Given the description of an element on the screen output the (x, y) to click on. 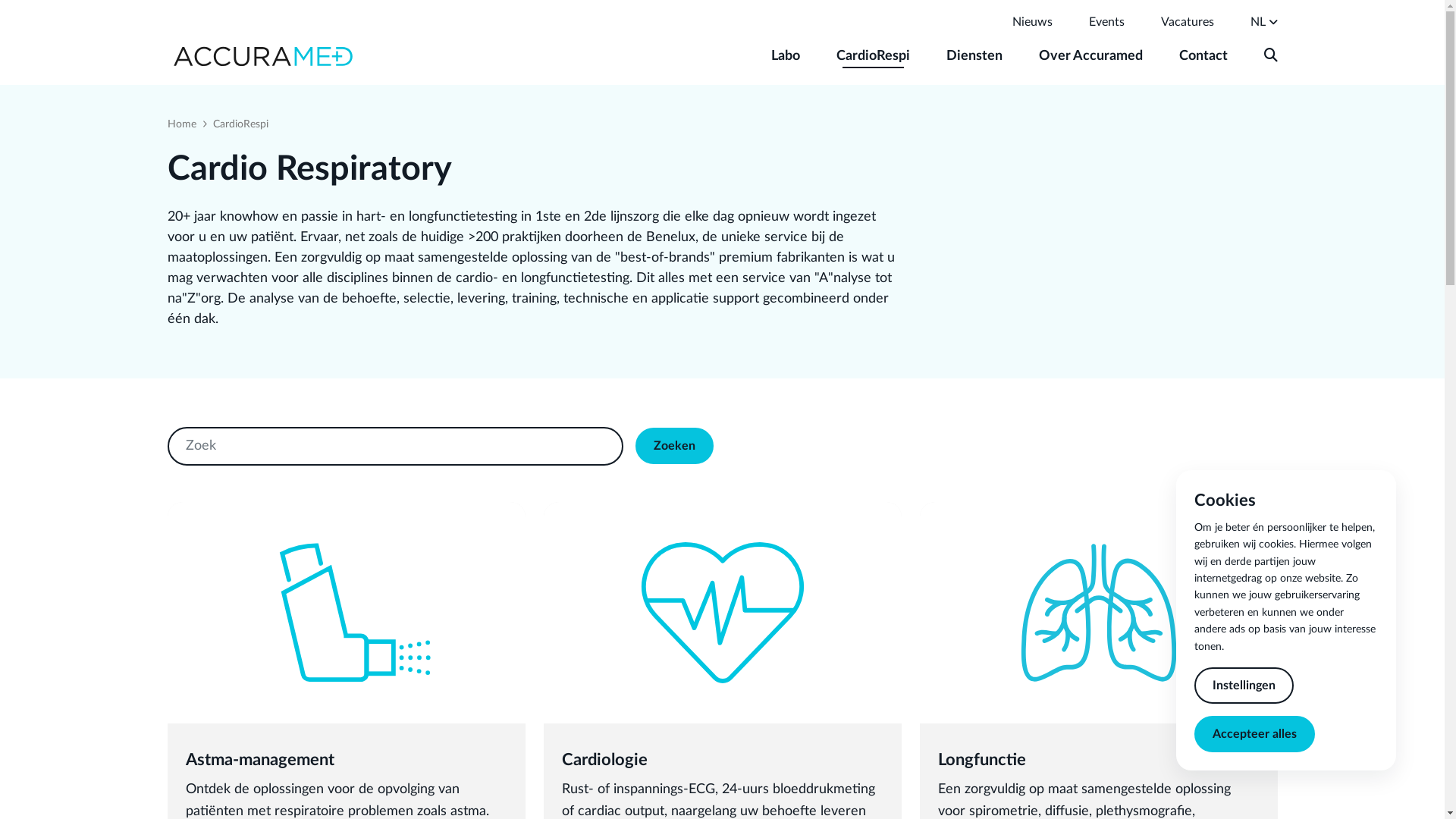
Events Element type: text (1106, 21)
Vacatures Element type: text (1186, 21)
Zoeken Element type: text (674, 445)
Home Element type: text (180, 124)
CardioRespi Element type: text (239, 124)
Over Accuramed Element type: text (1090, 55)
Labo Element type: text (784, 55)
Instellingen Element type: text (1243, 685)
Nieuws Element type: text (1031, 21)
Accepteer alles Element type: text (1254, 733)
NL Element type: text (1256, 22)
Zoeken Element type: text (1270, 56)
Terug naar home Element type: text (262, 56)
Contact Element type: text (1202, 55)
CardioRespi Element type: text (872, 55)
Diensten Element type: text (974, 55)
